Given the description of an element on the screen output the (x, y) to click on. 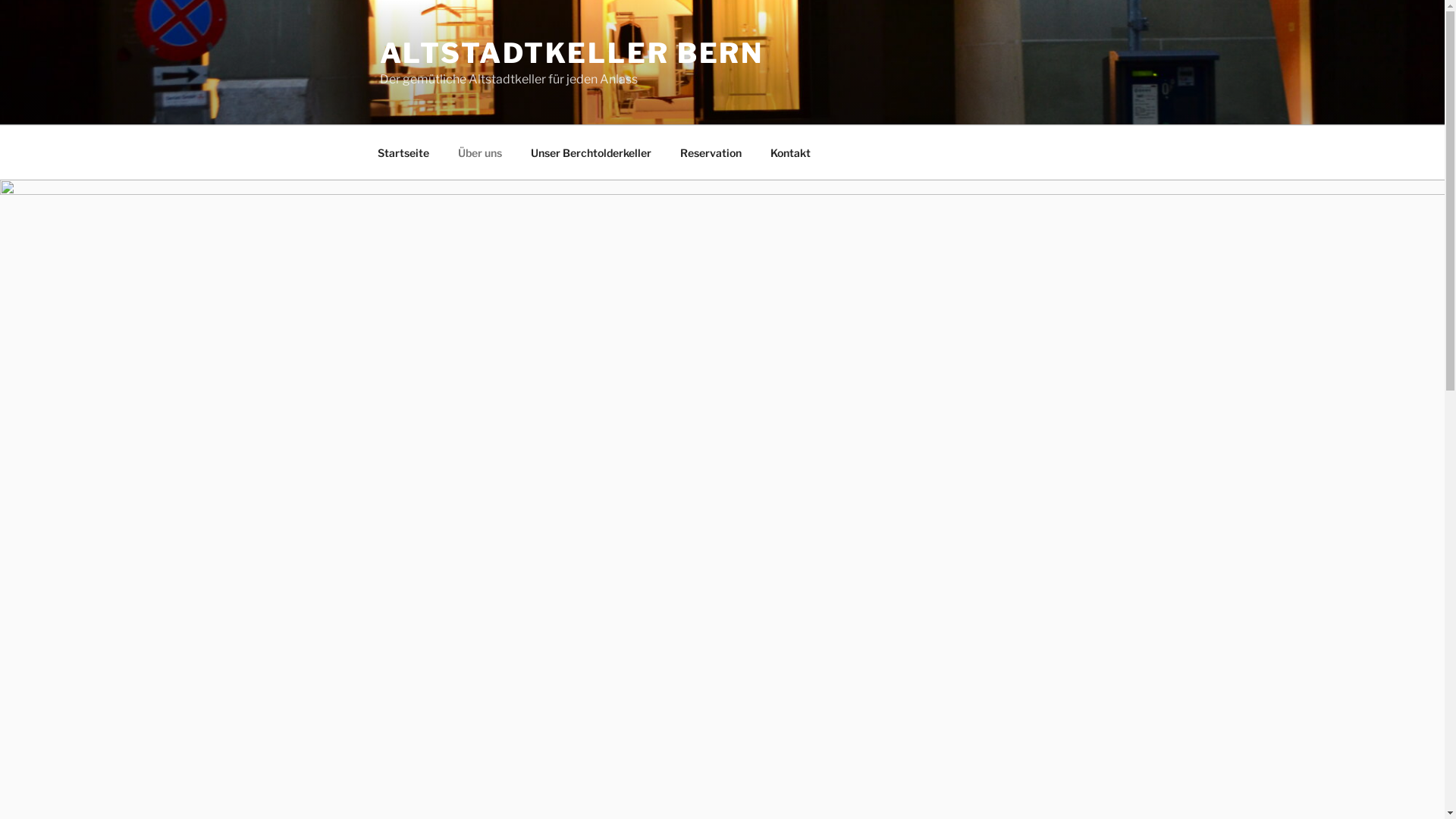
Unser Berchtolderkeller Element type: text (590, 151)
Reservation Element type: text (711, 151)
Kontakt Element type: text (789, 151)
ALTSTADTKELLER BERN Element type: text (571, 52)
Startseite Element type: text (403, 151)
